Given the description of an element on the screen output the (x, y) to click on. 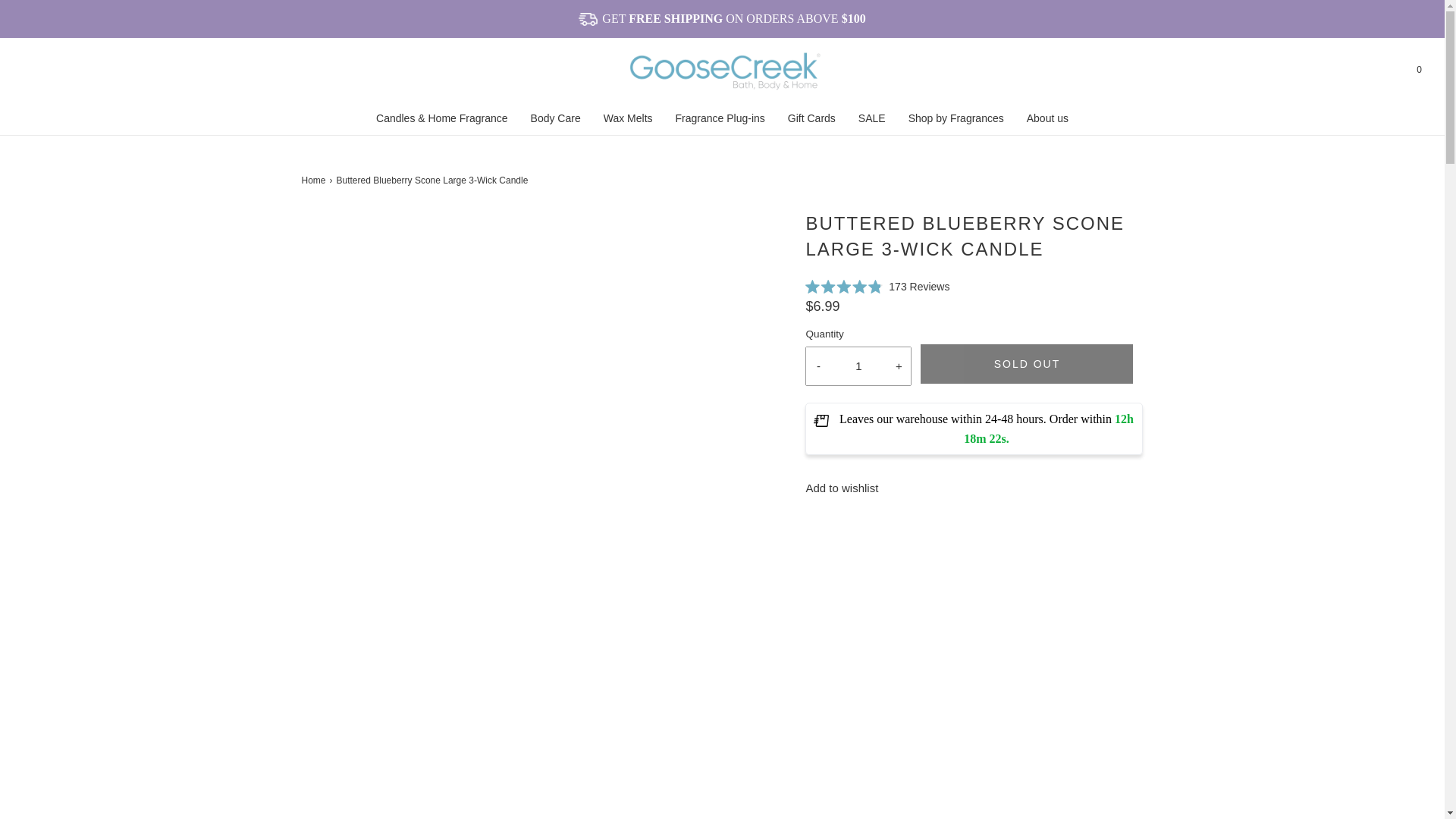
1 (858, 365)
Back to the frontpage (315, 180)
